Given the description of an element on the screen output the (x, y) to click on. 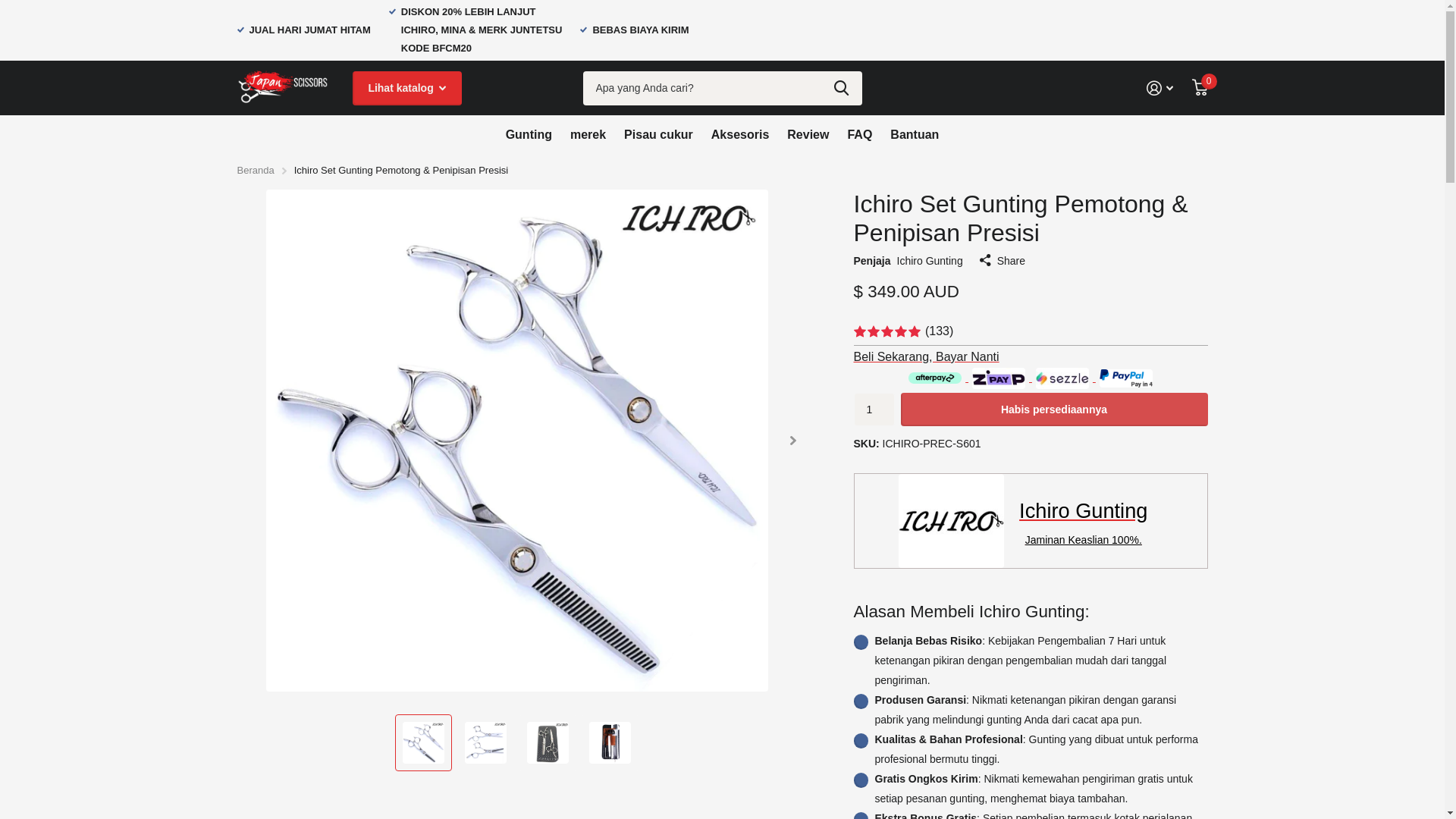
Beranda Element type: text (254, 169)
Aksesoris Element type: text (740, 134)
merek Element type: text (587, 134)
FAQ Element type: text (859, 134)
Gunting Element type: text (528, 134)
 (133) Element type: text (1030, 332)
Share Element type: text (1002, 260)
Beli Sekarang, Bayar Nanti Element type: text (1030, 355)
Ichiro Gunting
Jaminan Keaslian 100%. Element type: text (1030, 520)
Review Element type: text (807, 134)
Habis persediaannya Element type: text (1054, 409)
Pisau cukur Element type: text (658, 134)
0 Element type: text (1200, 87)
Bantuan Element type: text (914, 134)
Cari Element type: text (841, 88)
Lihat katalog Element type: text (406, 88)
